Given the description of an element on the screen output the (x, y) to click on. 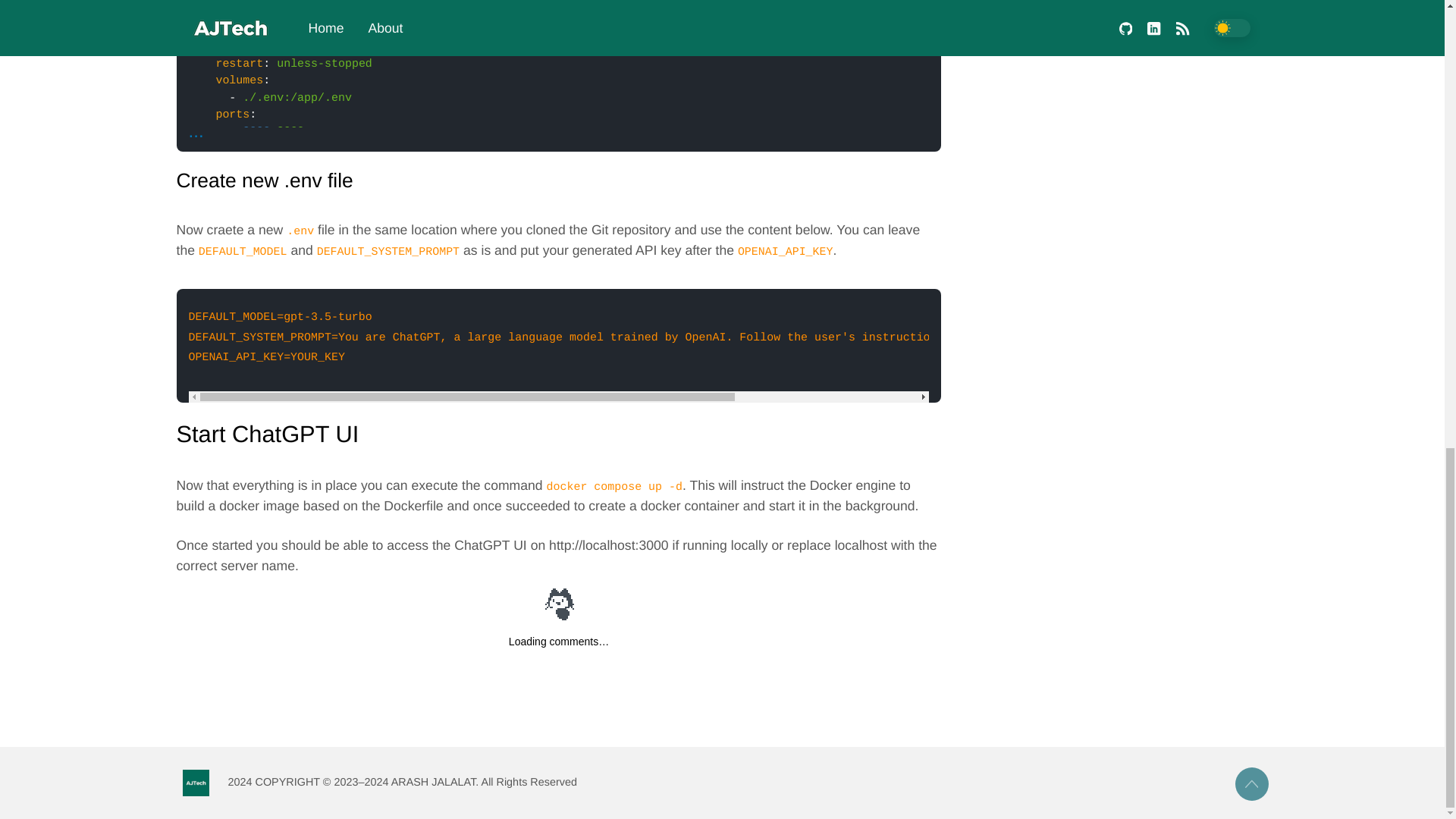
Comments (558, 642)
Toggle code block expand (195, 131)
